Given the description of an element on the screen output the (x, y) to click on. 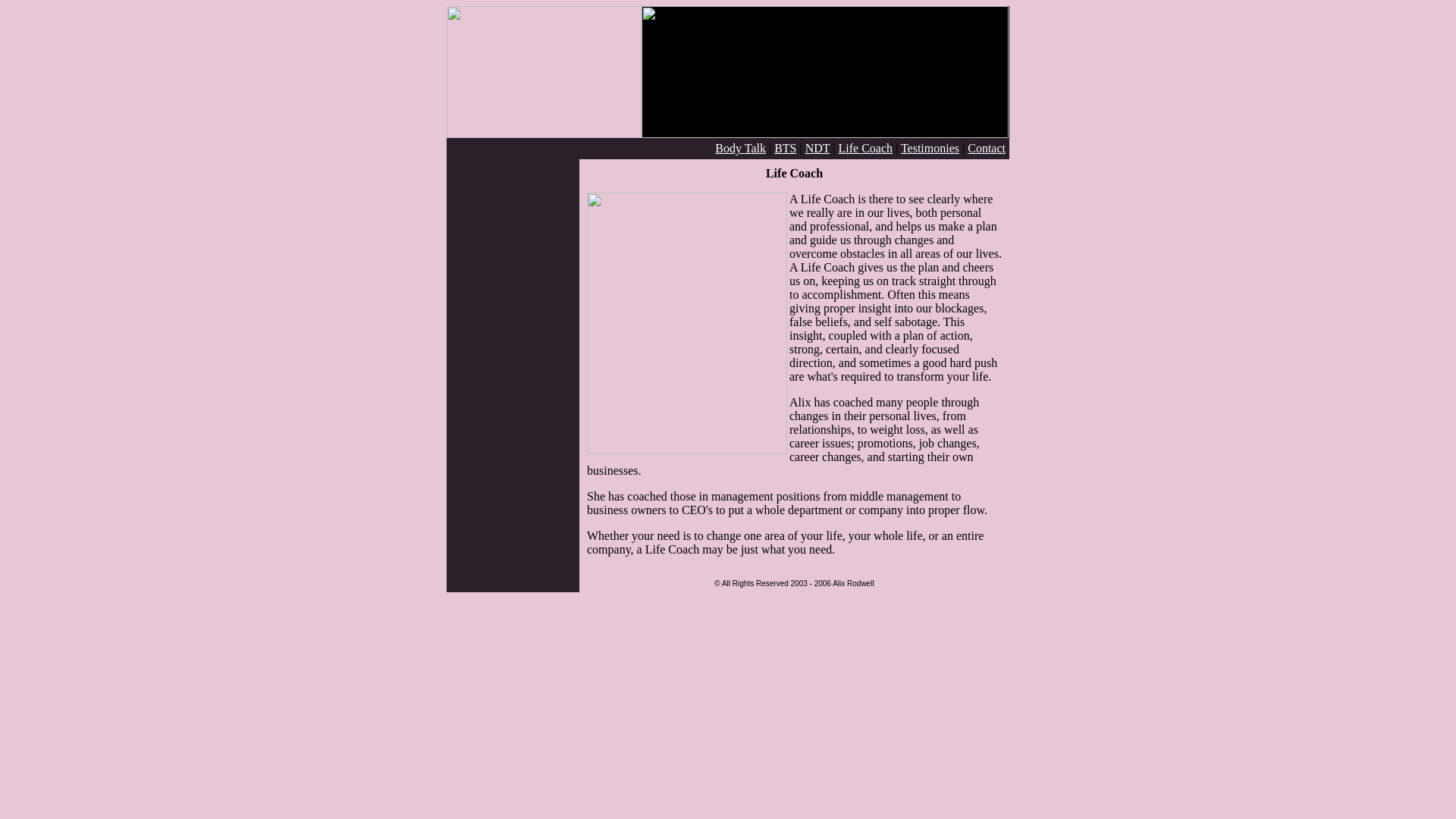
BTS (785, 147)
Testimonies (930, 147)
Body Talk (739, 147)
NDT (817, 147)
Life Coach (865, 147)
Contact (987, 147)
